Given the description of an element on the screen output the (x, y) to click on. 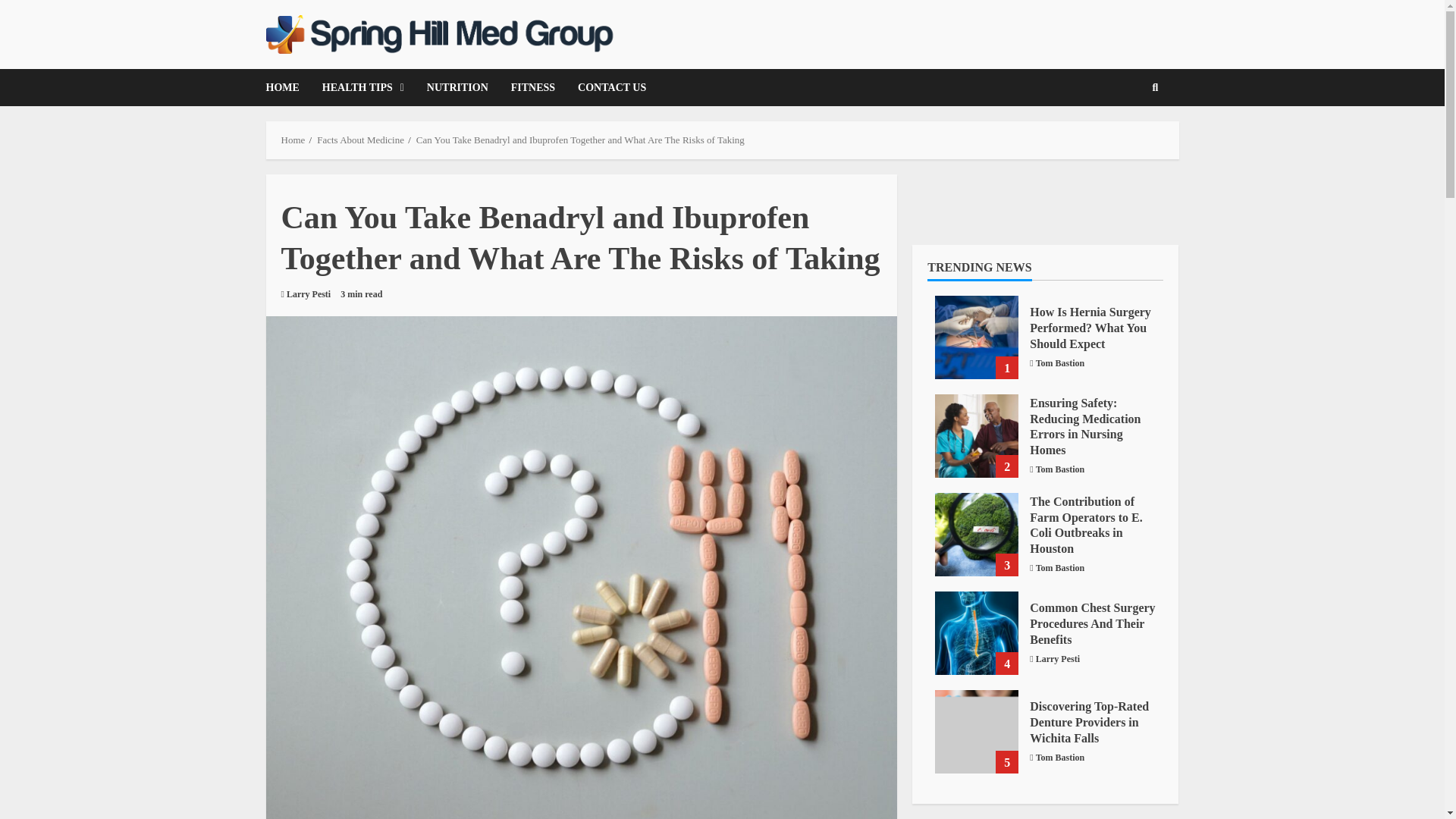
Larry Pesti (308, 294)
FITNESS (532, 87)
Facts About Medicine (360, 139)
HEALTH TIPS (362, 87)
Home (292, 139)
CONTACT US (606, 87)
Search (1131, 139)
NUTRITION (456, 87)
HOME (287, 87)
